Given the description of an element on the screen output the (x, y) to click on. 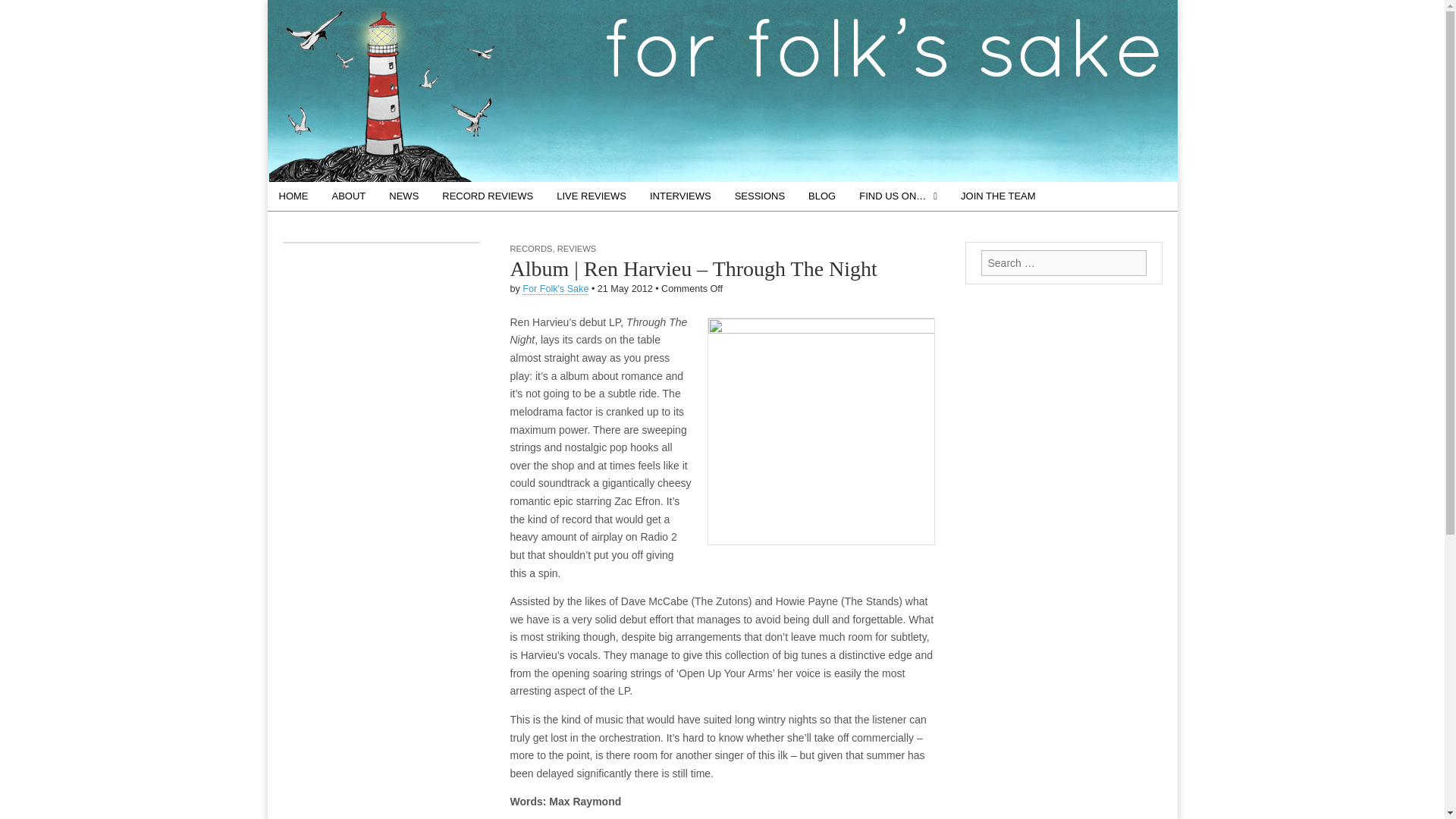
HOME (292, 195)
LIVE REVIEWS (590, 195)
REVIEWS (576, 248)
Search (23, 12)
BLOG (821, 195)
For Folk's Sake (555, 288)
RECORDS (530, 248)
Posts by For Folk's Sake (555, 288)
